Given the description of an element on the screen output the (x, y) to click on. 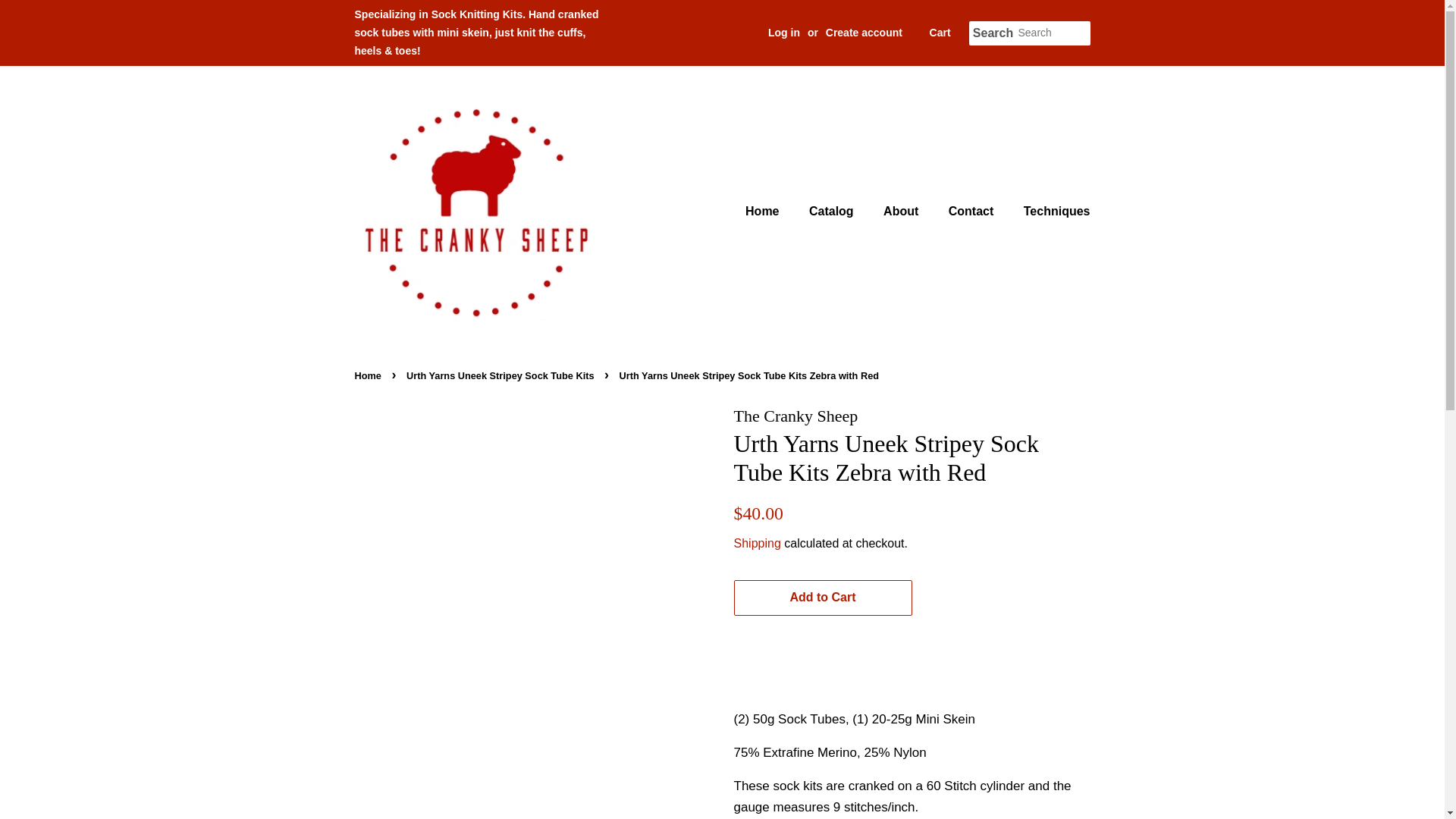
Home (370, 375)
About (902, 210)
Search (993, 33)
Catalog (833, 210)
Urth Yarns Uneek Stripey Sock Tube Kits (502, 375)
Add to Cart (822, 597)
Techniques (1050, 210)
Back to the frontpage (370, 375)
Shipping (756, 543)
Cart (940, 33)
